Given the description of an element on the screen output the (x, y) to click on. 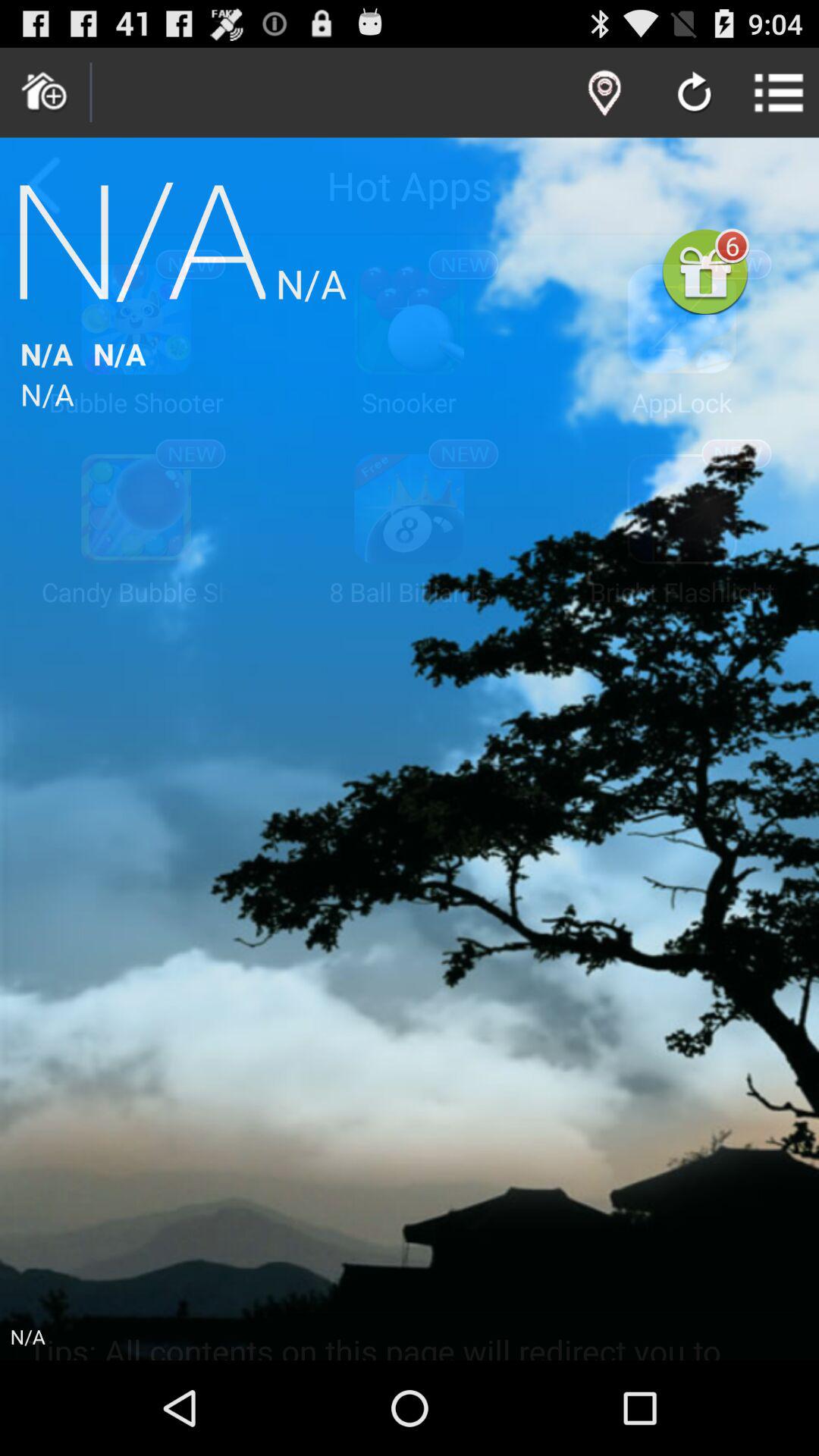
go to home (44, 92)
